Given the description of an element on the screen output the (x, y) to click on. 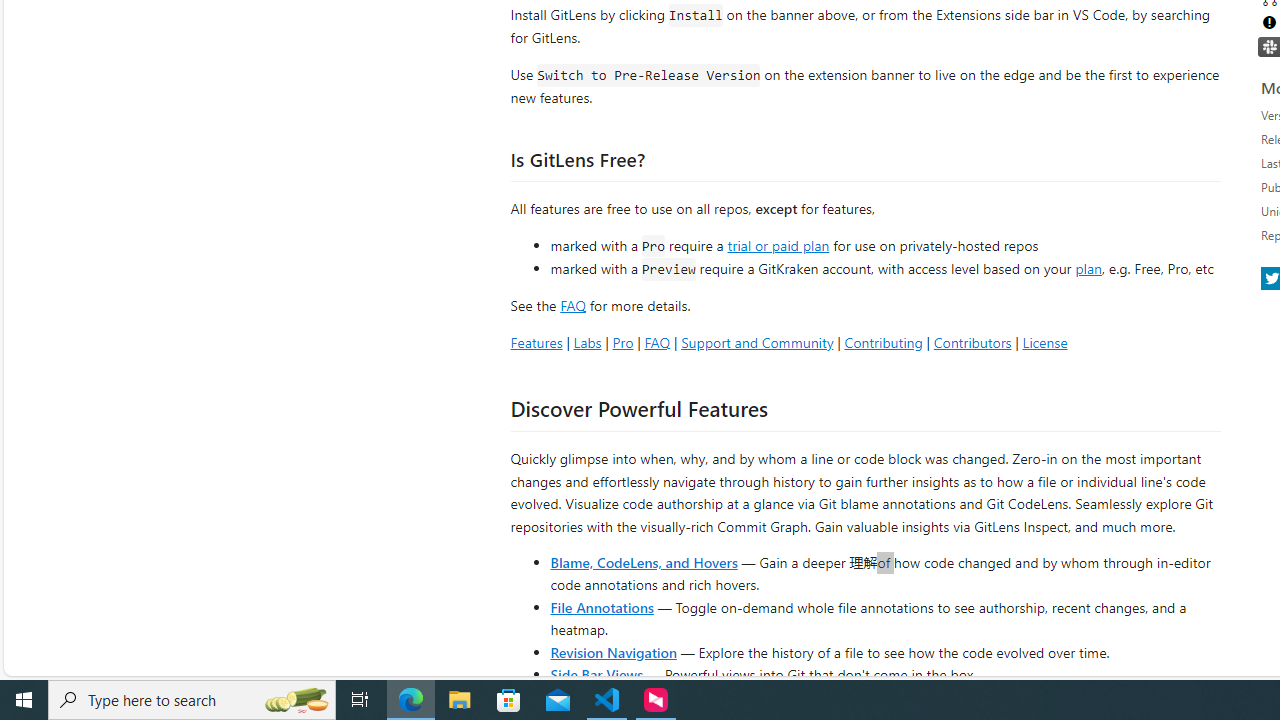
Side Bar Views (596, 673)
License (1044, 341)
